Given the description of an element on the screen output the (x, y) to click on. 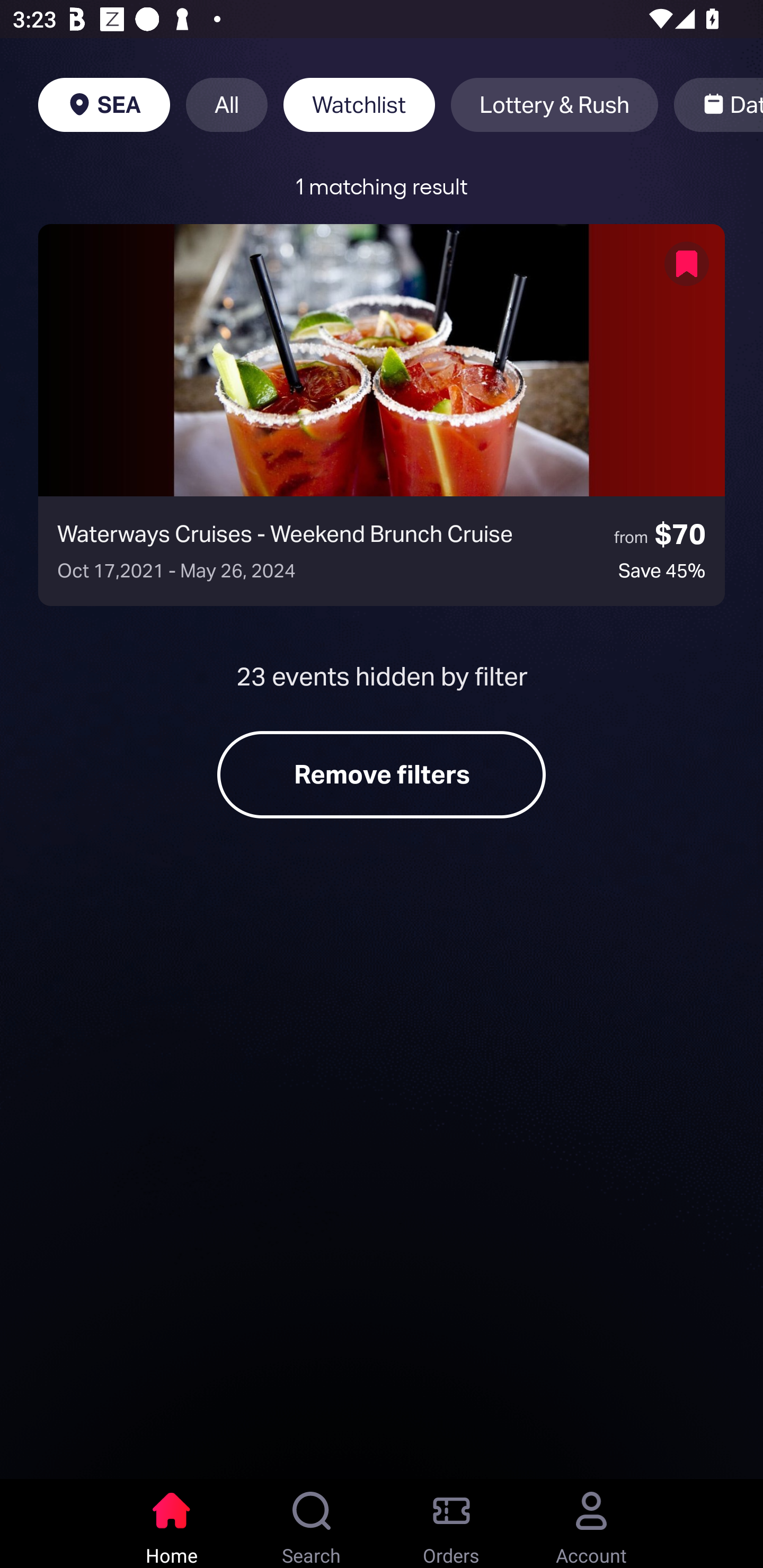
SEA (104, 104)
All (226, 104)
Watchlist (358, 104)
Lottery & Rush (553, 104)
Remove filters (381, 774)
Search (311, 1523)
Orders (451, 1523)
Account (591, 1523)
